Given the description of an element on the screen output the (x, y) to click on. 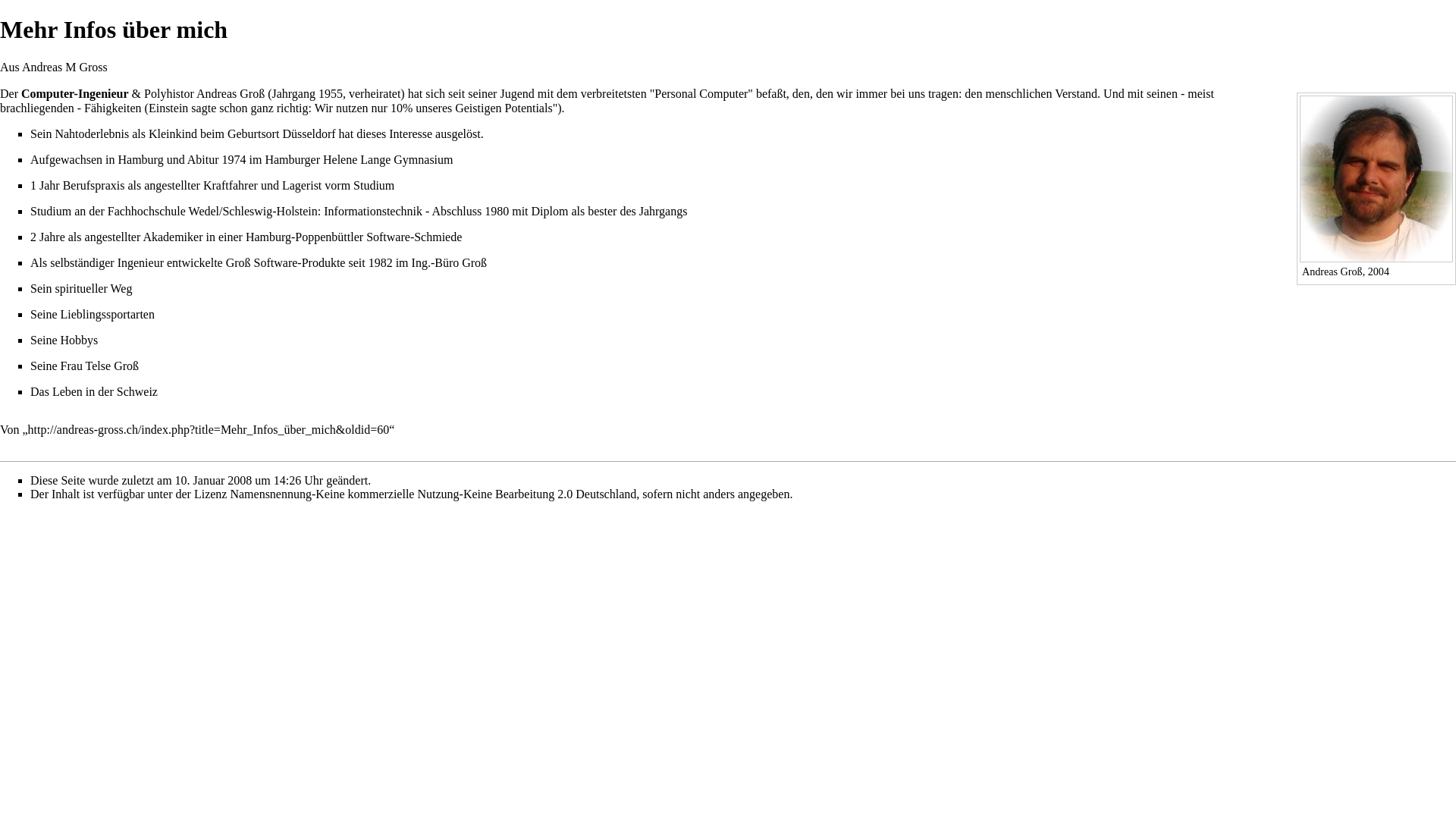
Leben in der Schweiz Element type: text (104, 391)
Lieblingssportarten Element type: text (107, 313)
Polyhistor Element type: text (169, 93)
Hobbys Element type: text (79, 339)
Nahtoderlebnis Element type: text (91, 133)
spiritueller Weg Element type: text (92, 288)
Software-Produkte Element type: text (299, 262)
